Given the description of an element on the screen output the (x, y) to click on. 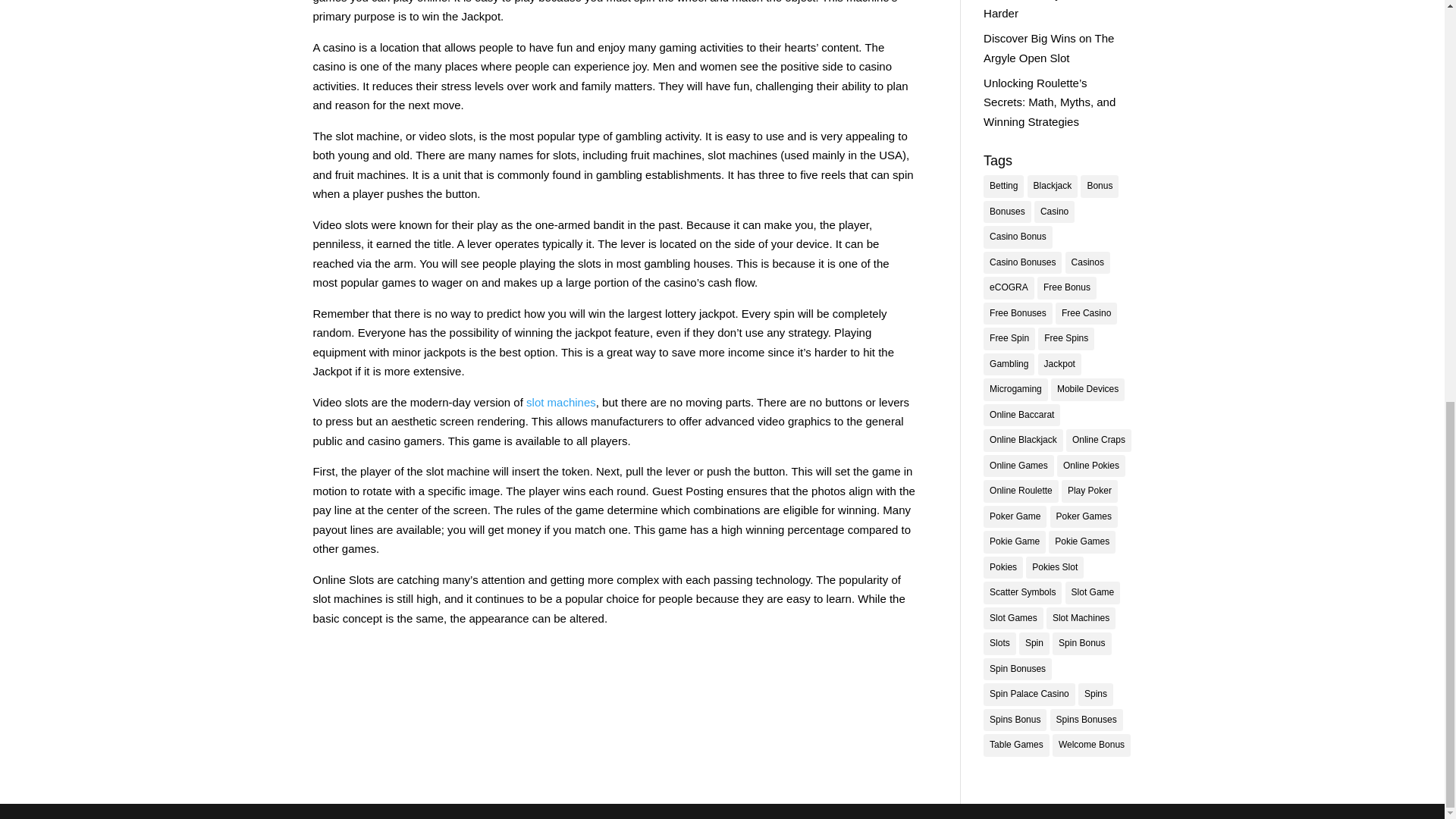
Bonus (1099, 186)
Betting (1003, 186)
Gambling (1008, 363)
Casino (1053, 211)
Bonuses (1007, 211)
Free Bonus (1066, 287)
Casinos (1087, 261)
Casino Bonuses (1022, 261)
Free Spin (1009, 338)
Casino Bonus (1018, 237)
